Given the description of an element on the screen output the (x, y) to click on. 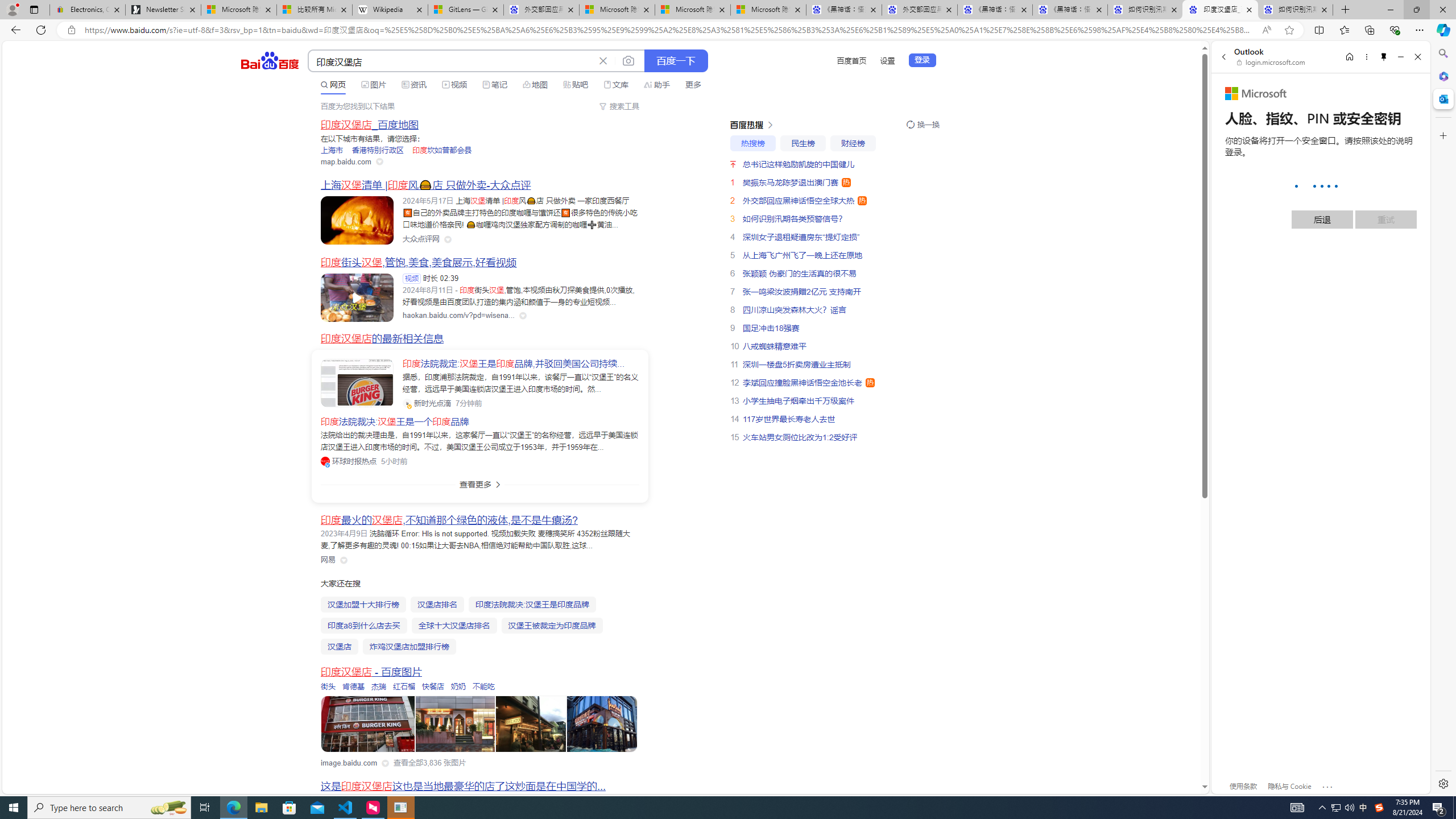
Newsletter Sign Up (162, 9)
